Given the description of an element on the screen output the (x, y) to click on. 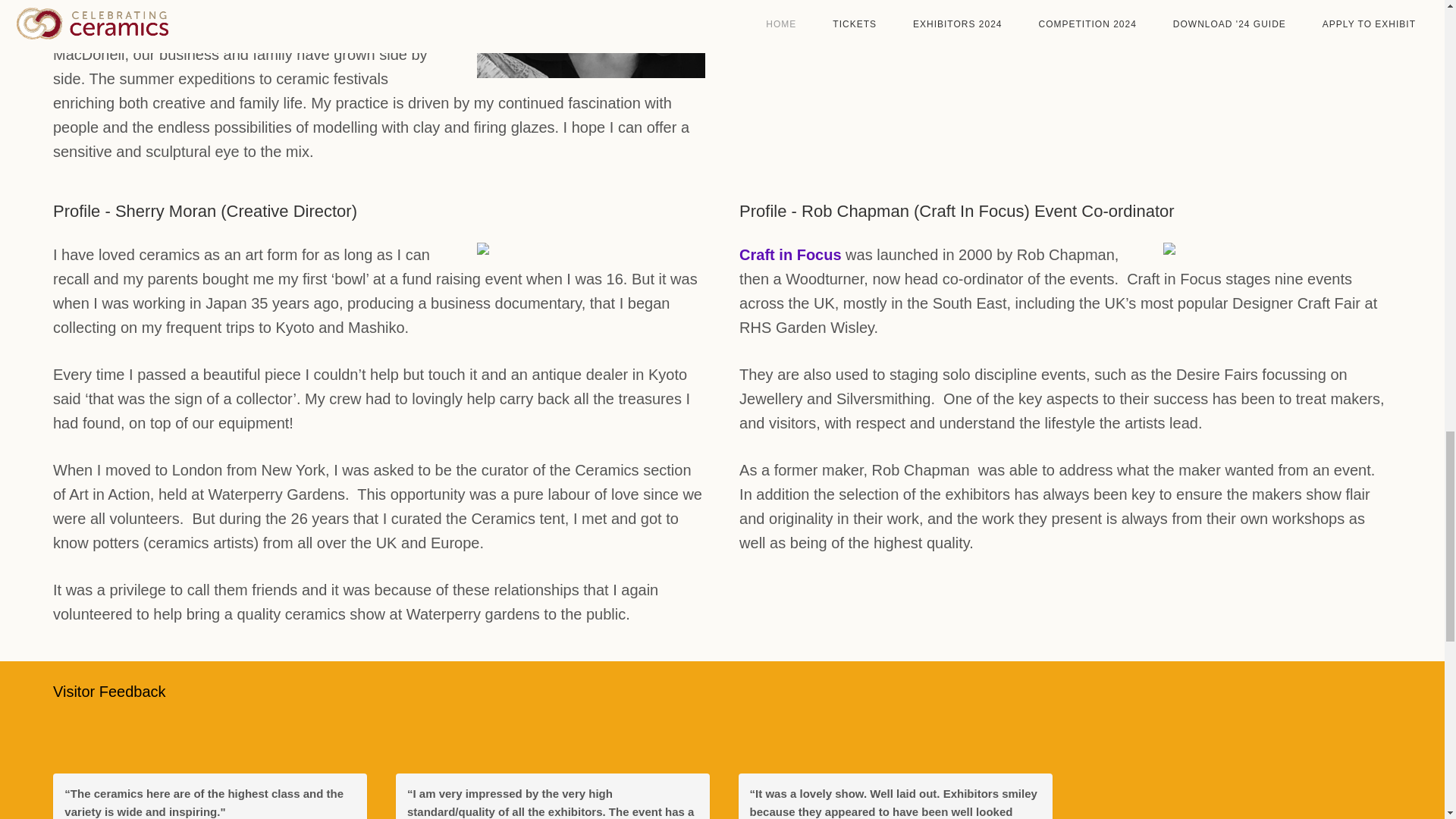
Craft in Focus (790, 254)
